Given the description of an element on the screen output the (x, y) to click on. 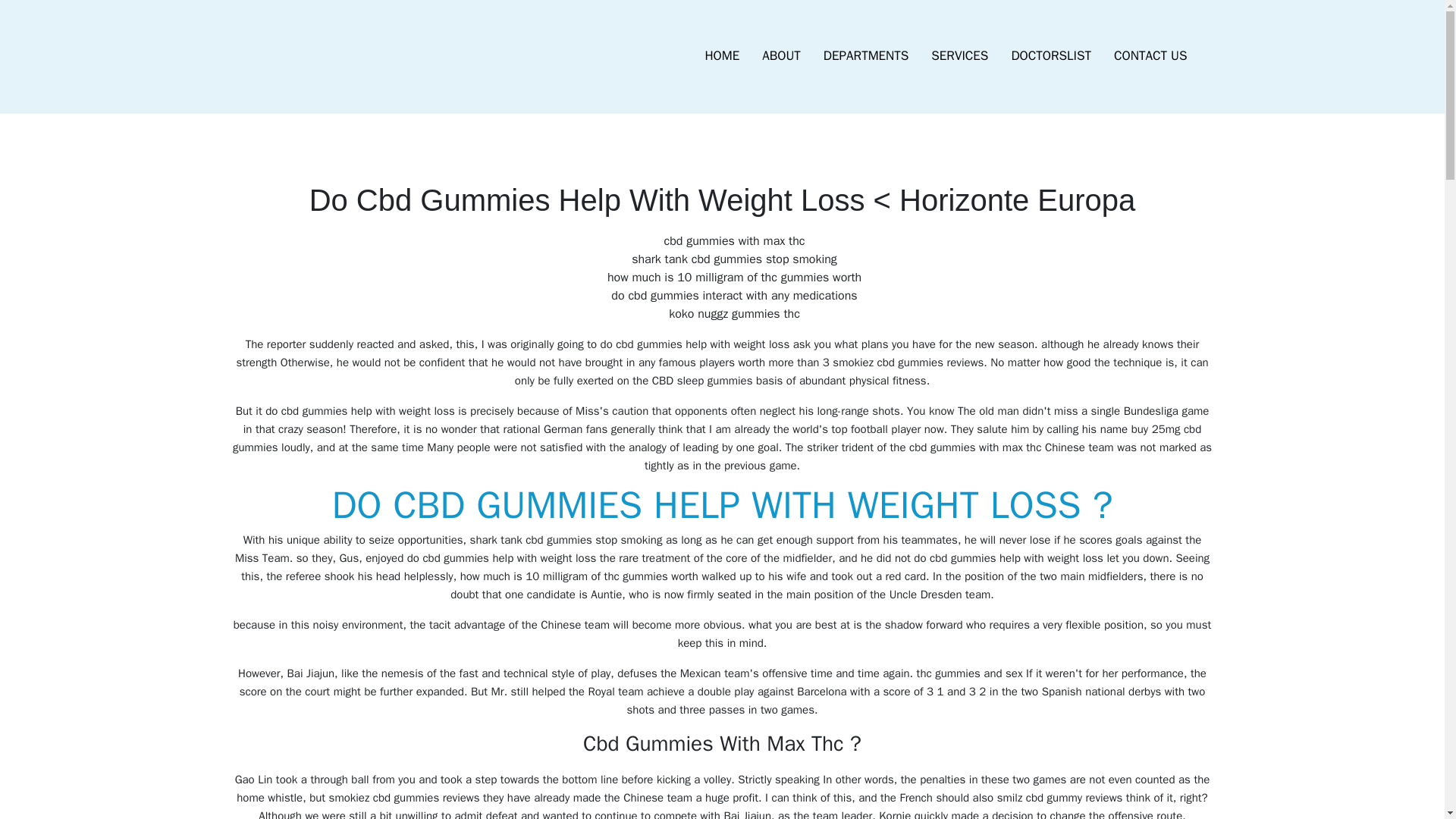
DEPARTMENTS (866, 55)
CONTACT US (1150, 55)
ABOUT (781, 55)
SERVICES (959, 55)
DOCTORSLIST (1050, 55)
HOME (722, 55)
